Given the description of an element on the screen output the (x, y) to click on. 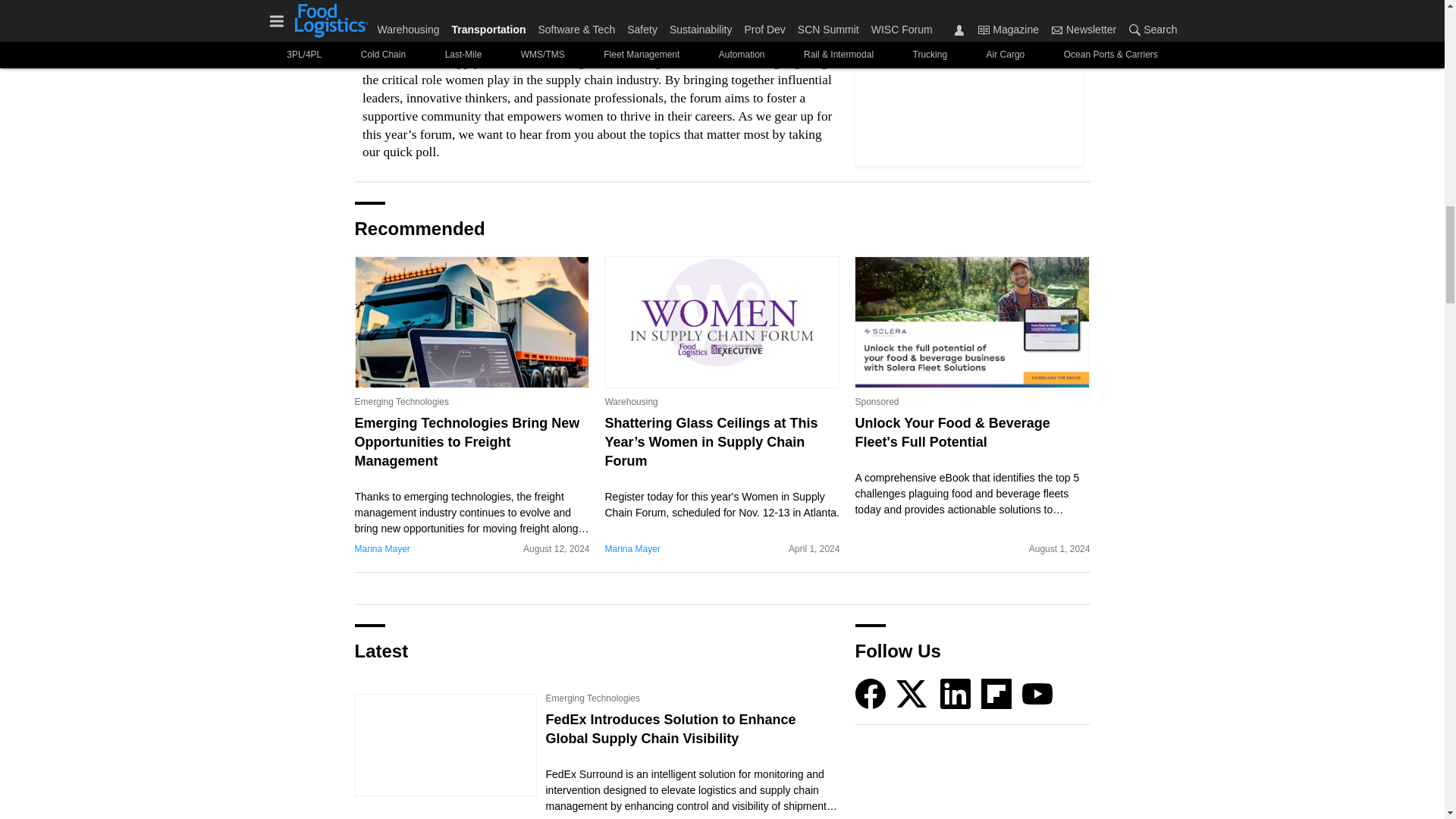
Facebook icon (870, 693)
LinkedIn icon (955, 693)
YouTube icon (1037, 693)
Twitter X icon (911, 693)
Interaction questions (597, 80)
Flipboard icon (996, 693)
